Given the description of an element on the screen output the (x, y) to click on. 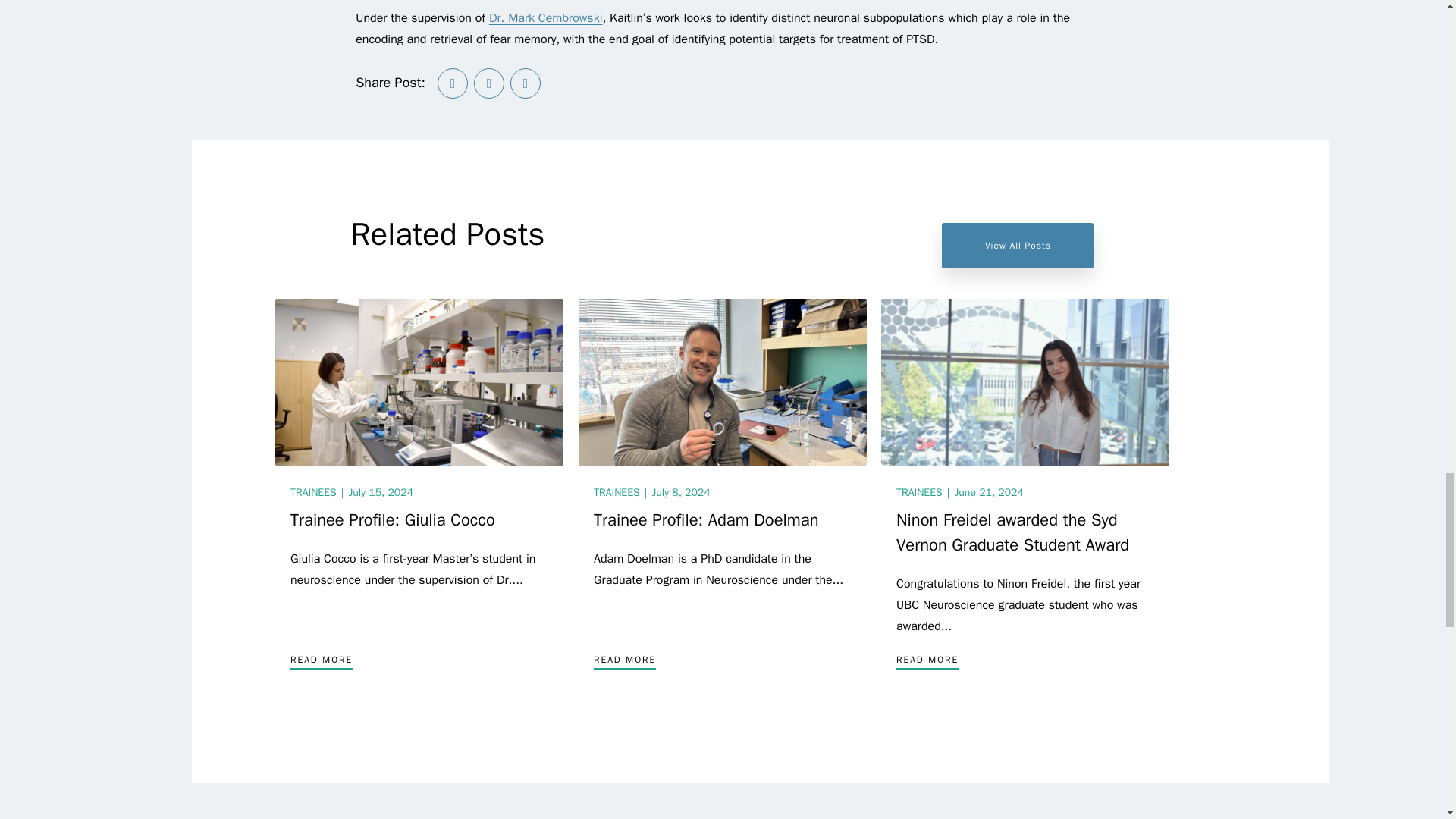
Trainee Profile: Adam Doelman (722, 382)
Ninon Freidel awarded the Syd Vernon Graduate Student Award (1024, 382)
Trainee Profile: Giulia Cocco (419, 382)
